Given the description of an element on the screen output the (x, y) to click on. 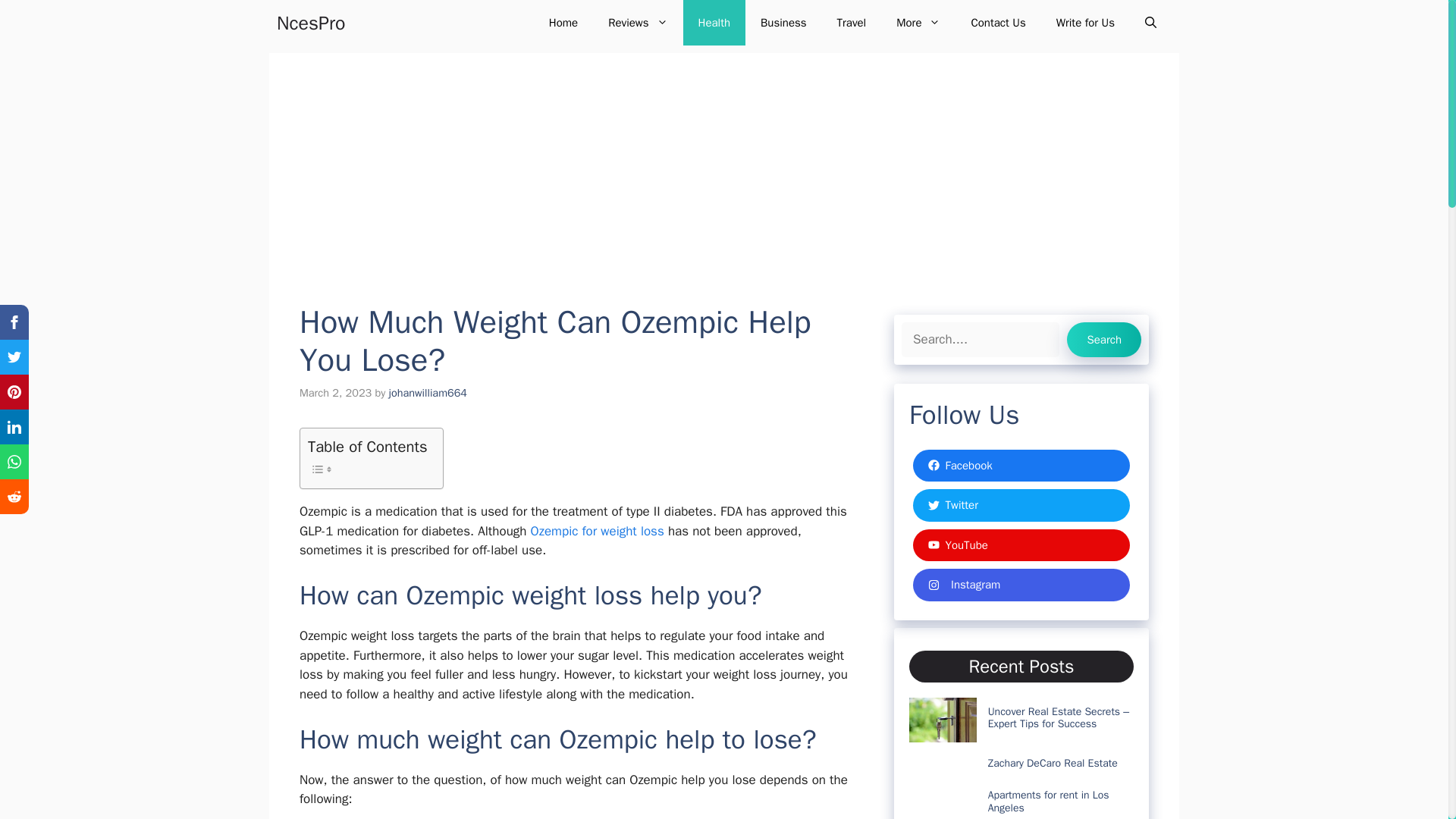
NcesPro (310, 22)
Business (783, 22)
View all posts by johanwilliam664 (427, 392)
Contact Us (998, 22)
More (917, 22)
johanwilliam664 (427, 392)
Travel (852, 22)
Home (563, 22)
Health (713, 22)
Write for Us (1085, 22)
Reviews (637, 22)
